Given the description of an element on the screen output the (x, y) to click on. 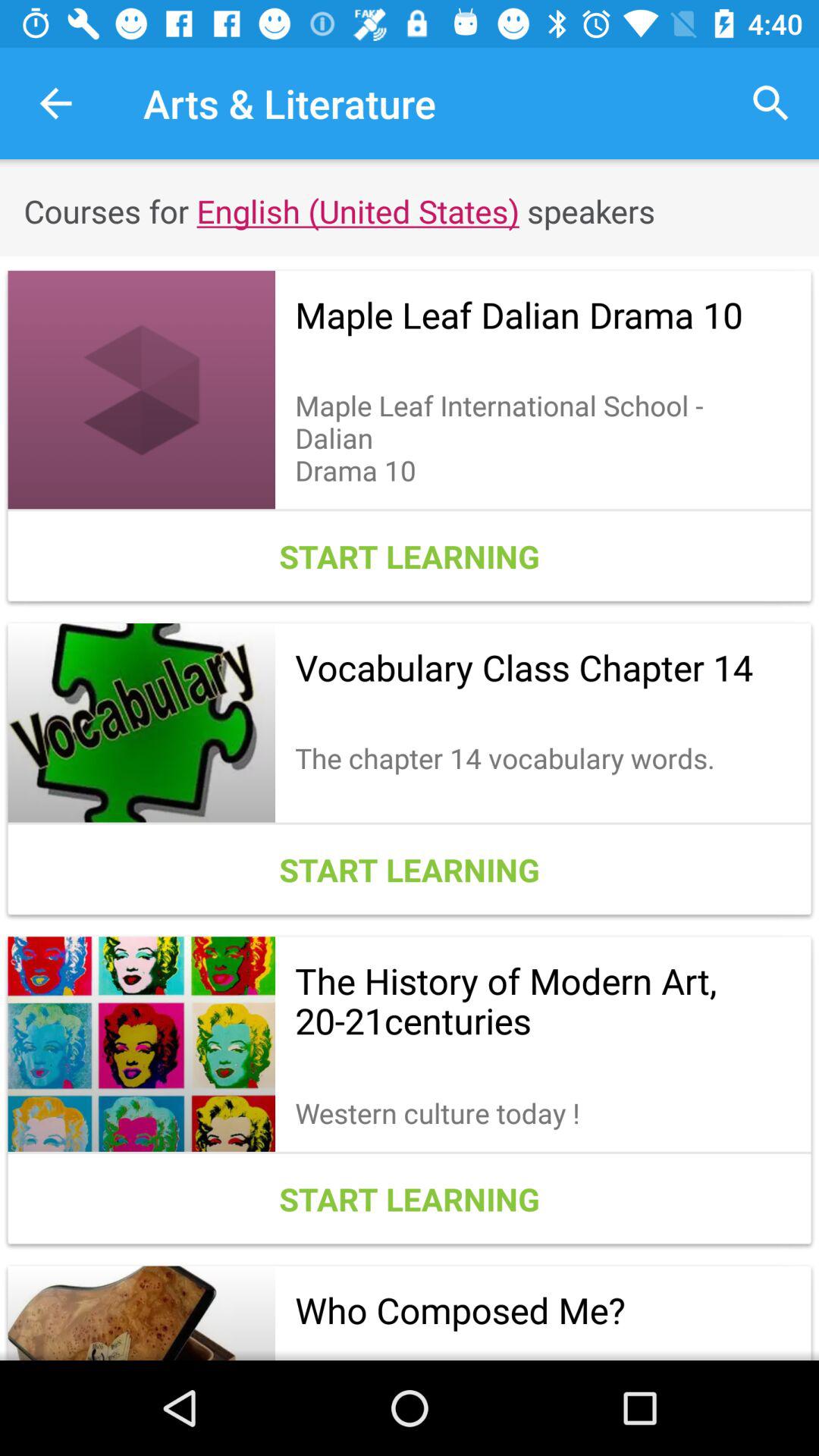
click icon to the right of arts & literature (771, 103)
